Given the description of an element on the screen output the (x, y) to click on. 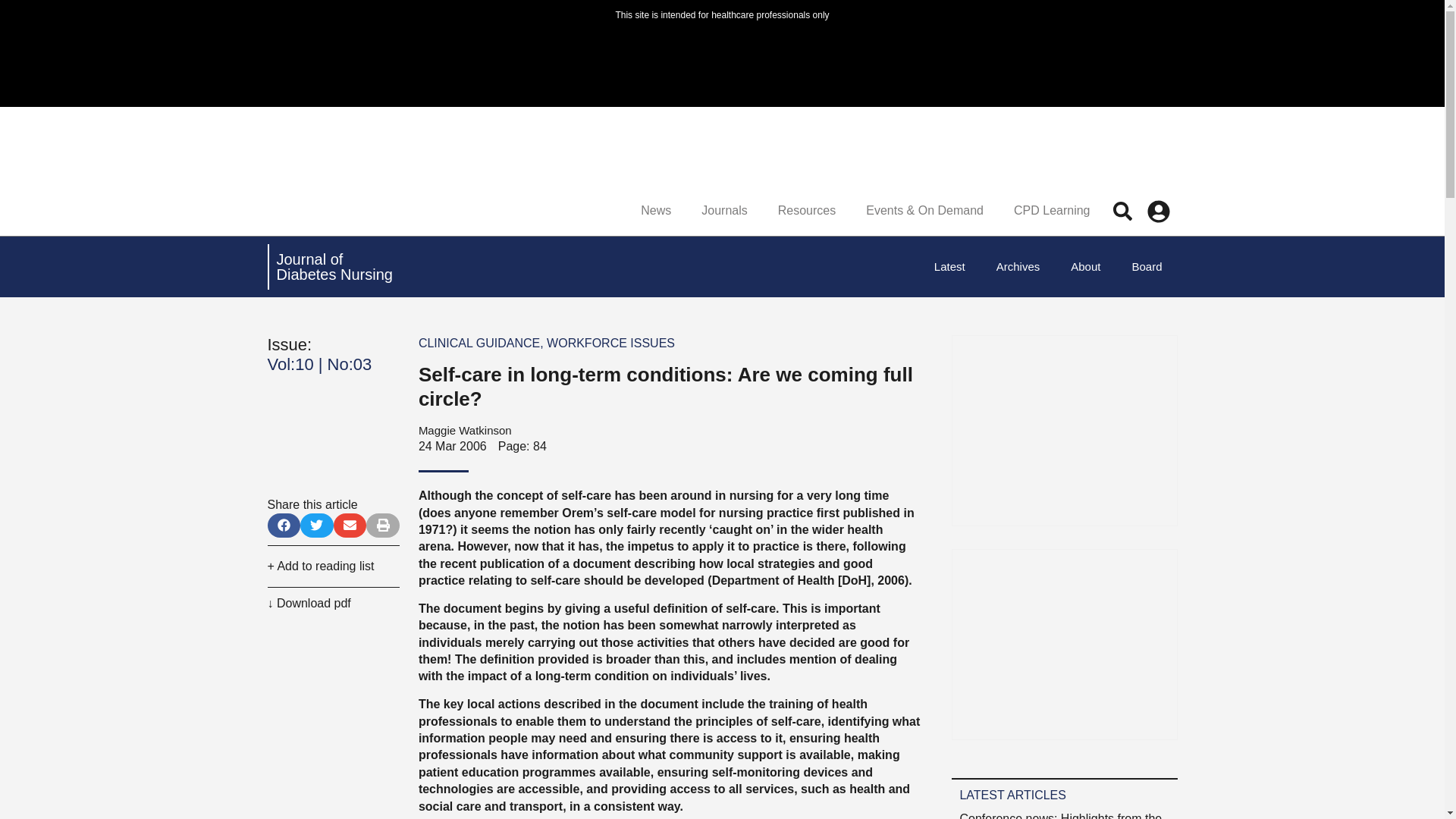
CPD Learning (1051, 210)
Resources (806, 210)
Board (333, 266)
Archives (1146, 266)
Journals (1018, 266)
Latest (723, 210)
About (948, 266)
News (1085, 266)
